Given the description of an element on the screen output the (x, y) to click on. 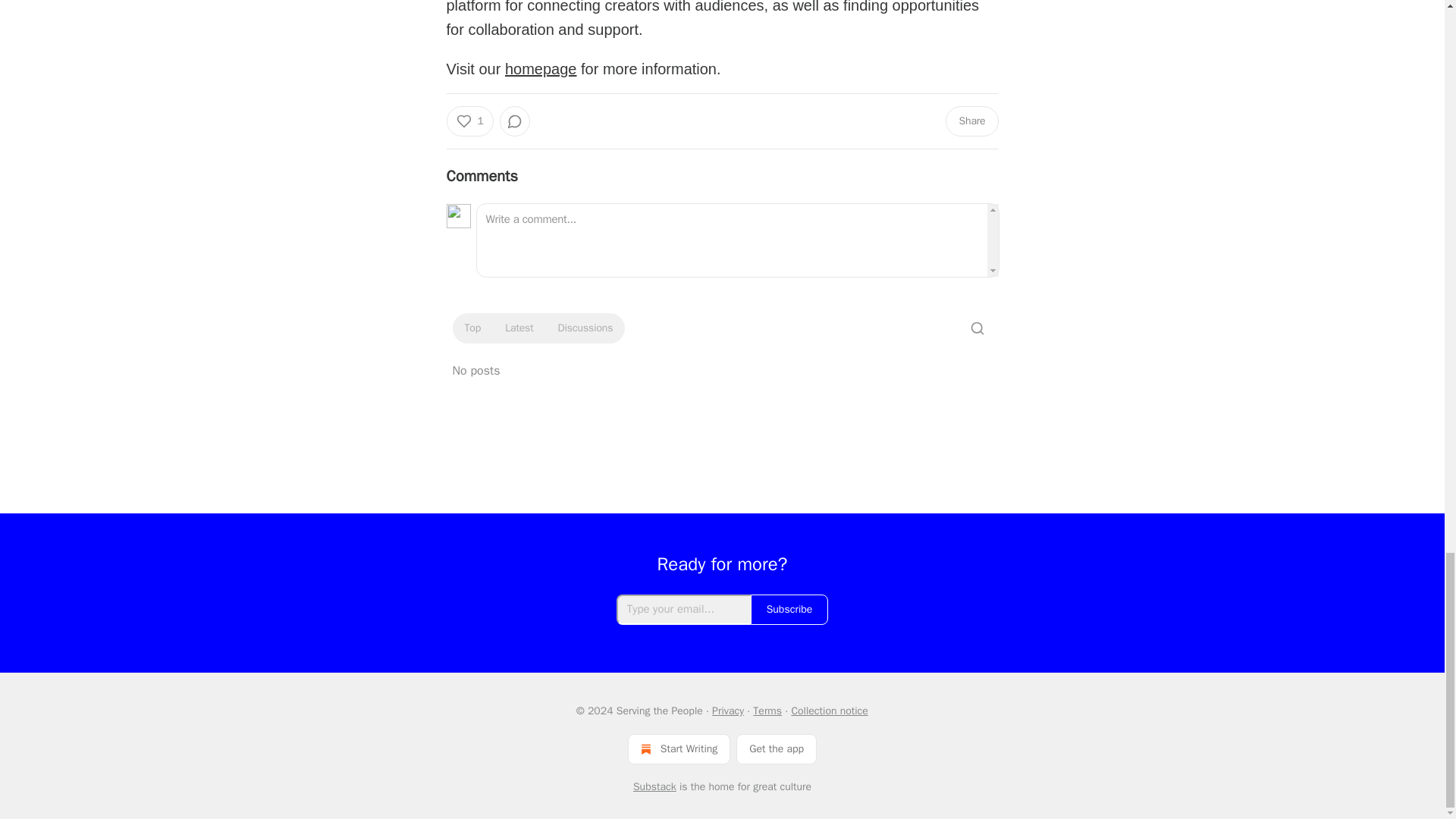
Discussions (585, 328)
homepage (540, 68)
1 (469, 121)
Share (970, 121)
Top (471, 328)
Latest (518, 328)
